Given the description of an element on the screen output the (x, y) to click on. 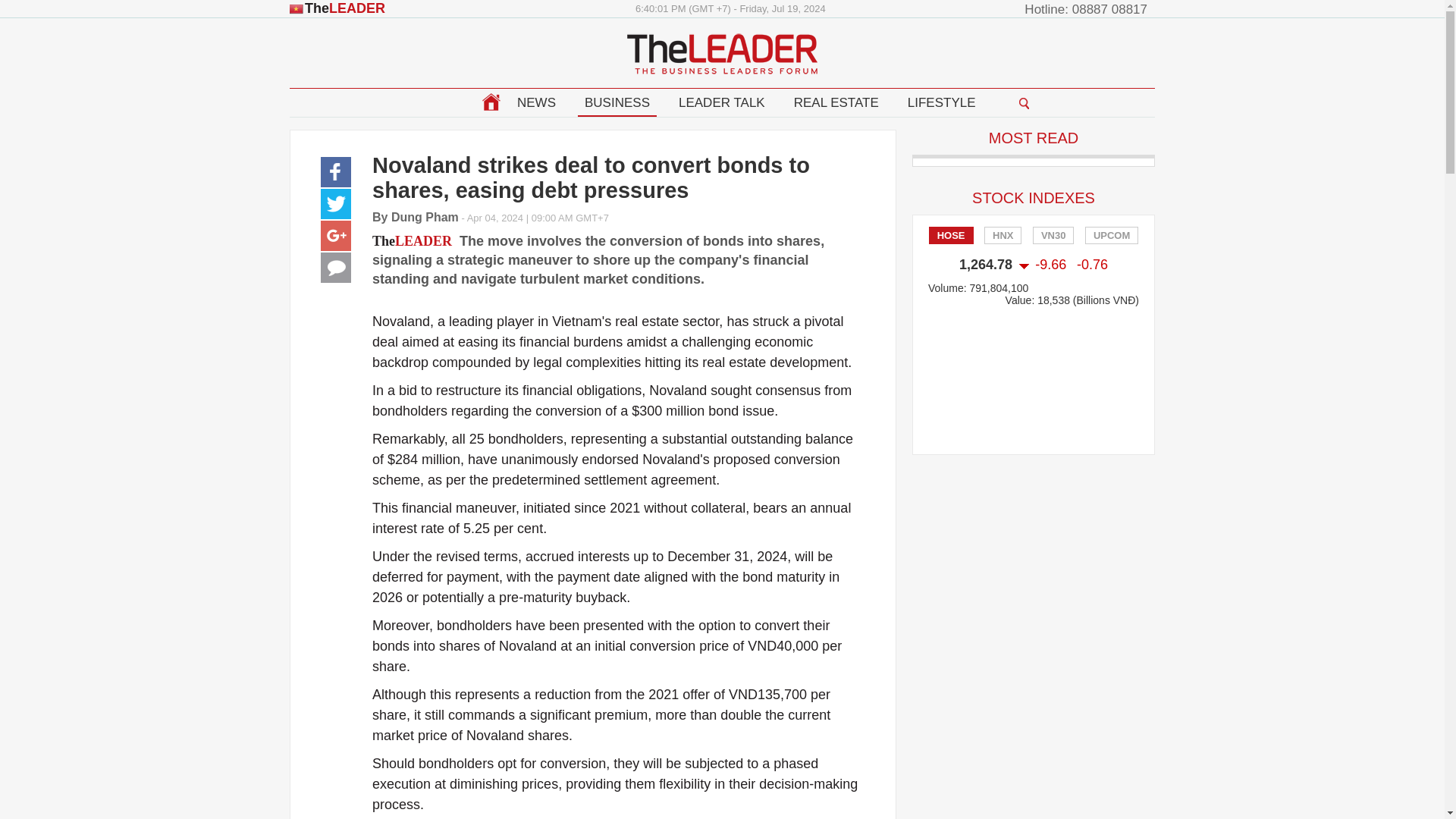
BUSINESS (617, 102)
Send comment (335, 267)
Home (490, 101)
LifeStyle (941, 102)
Business (617, 102)
Search (1023, 101)
Share Twitter (335, 204)
NEWS (536, 102)
Real estate (836, 102)
LEADER TALK (721, 102)
Leader talk (721, 102)
TheLEADER (337, 8)
LIFESTYLE (941, 102)
REAL ESTATE (836, 102)
